Given the description of an element on the screen output the (x, y) to click on. 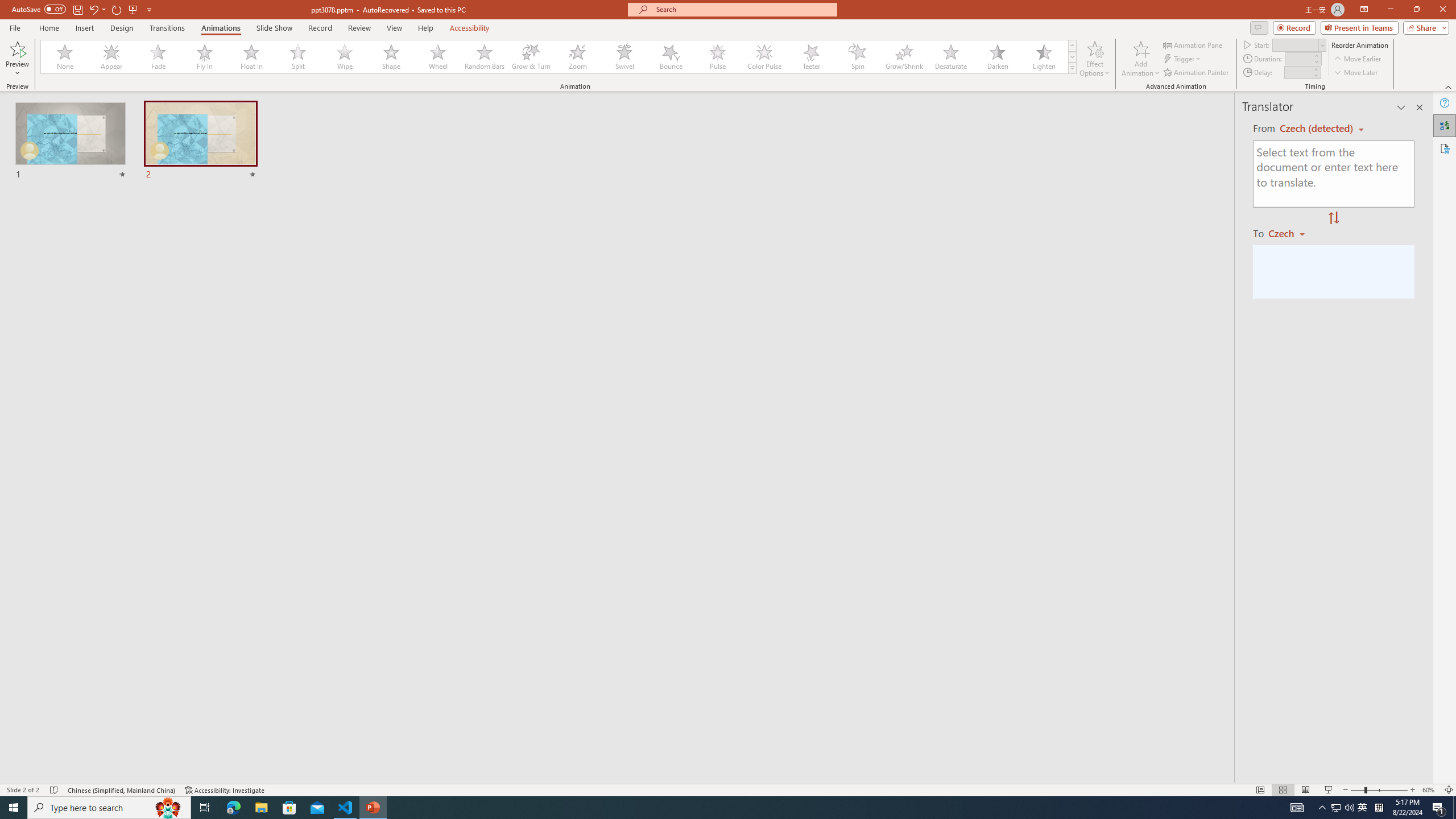
Wheel (437, 56)
None (65, 56)
Fly In (205, 56)
Animation Styles (1071, 67)
Czech (1291, 232)
